Given the description of an element on the screen output the (x, y) to click on. 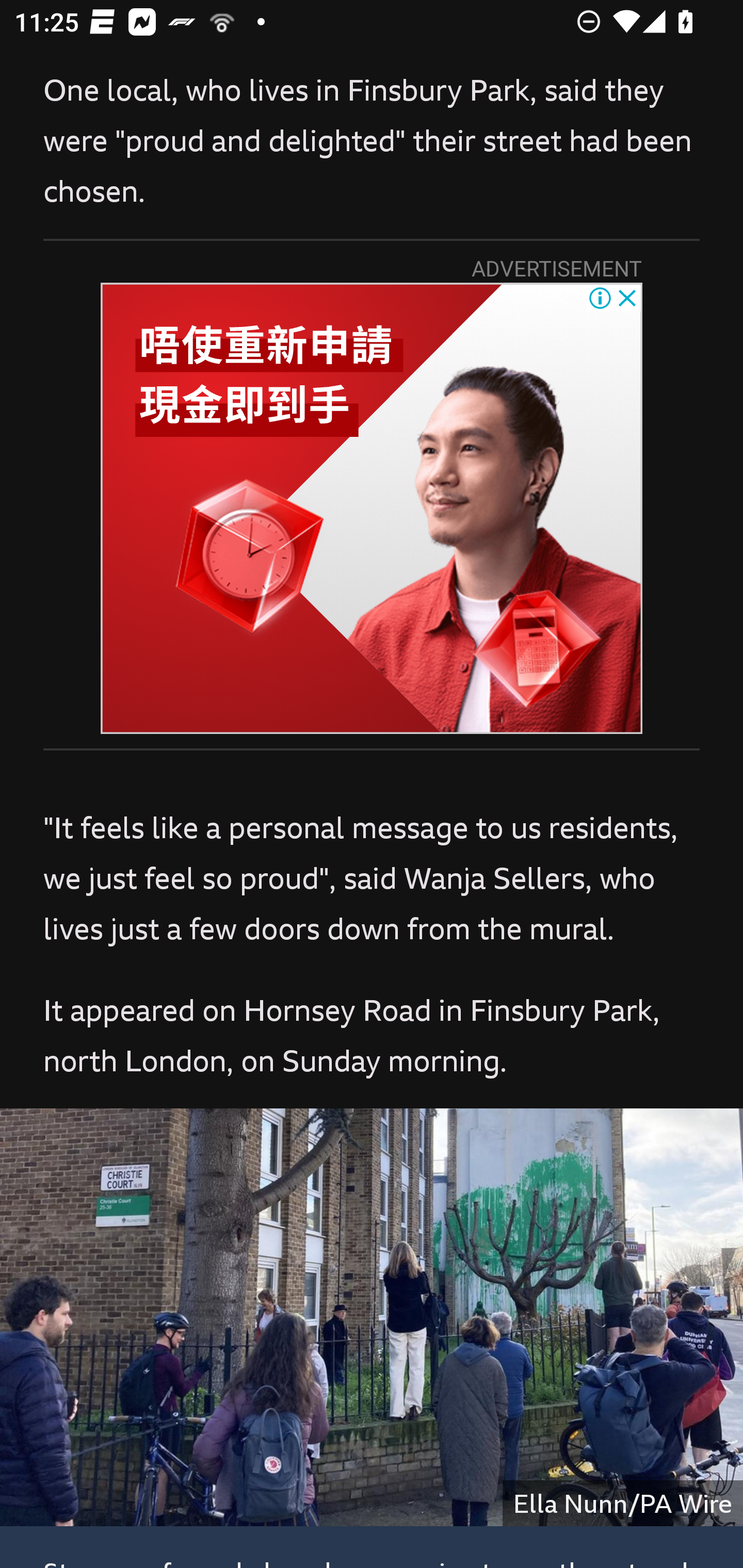
300x250 (371, 507)
